Given the description of an element on the screen output the (x, y) to click on. 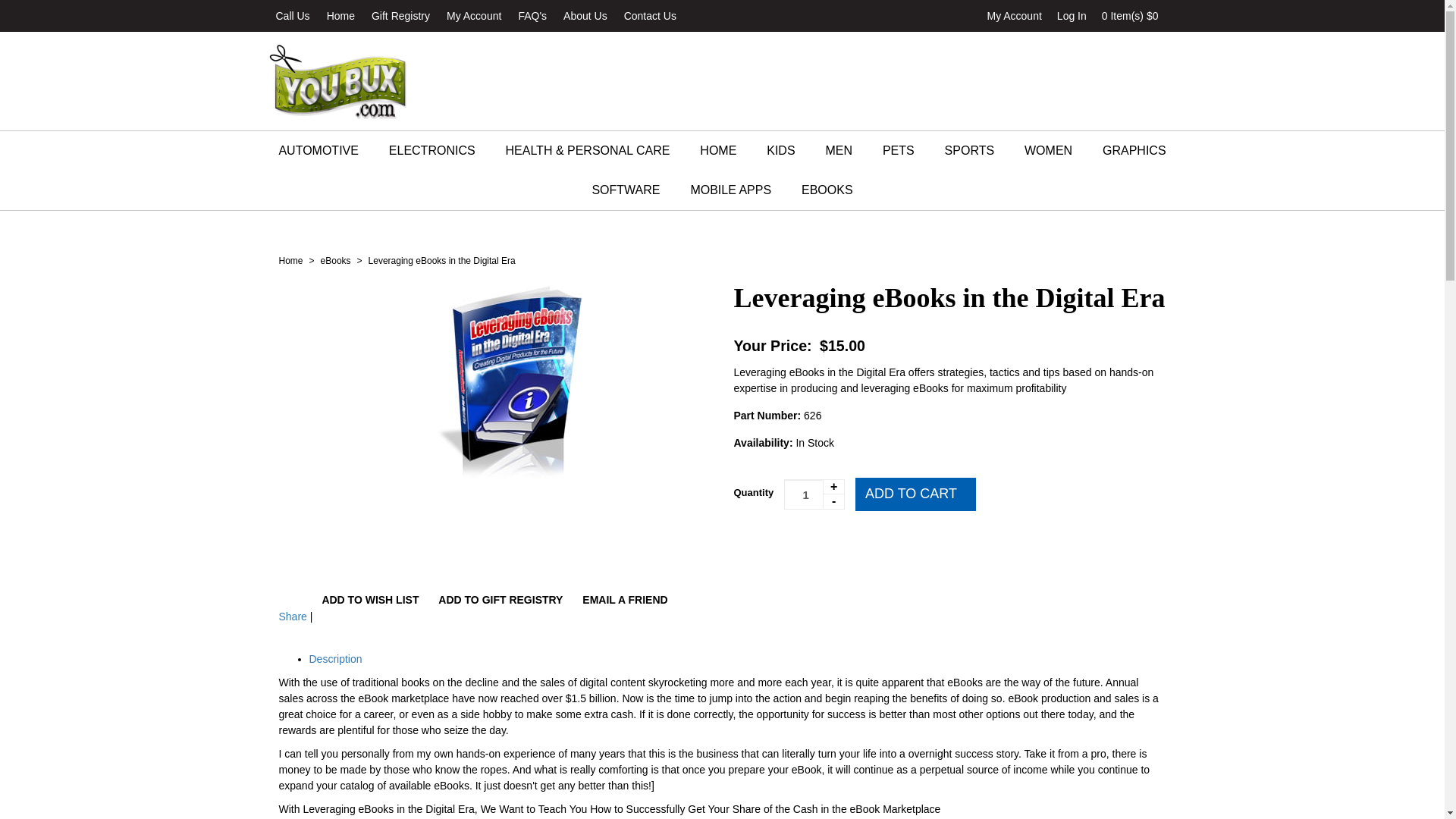
EBOOKS (826, 189)
SPORTS (1071, 15)
FAQ's (970, 150)
Home (531, 15)
My Account (340, 15)
ADD TO WISH LIST (473, 15)
MOBILE APPS (369, 600)
MEN (730, 189)
GRAPHICS (838, 150)
